Given the description of an element on the screen output the (x, y) to click on. 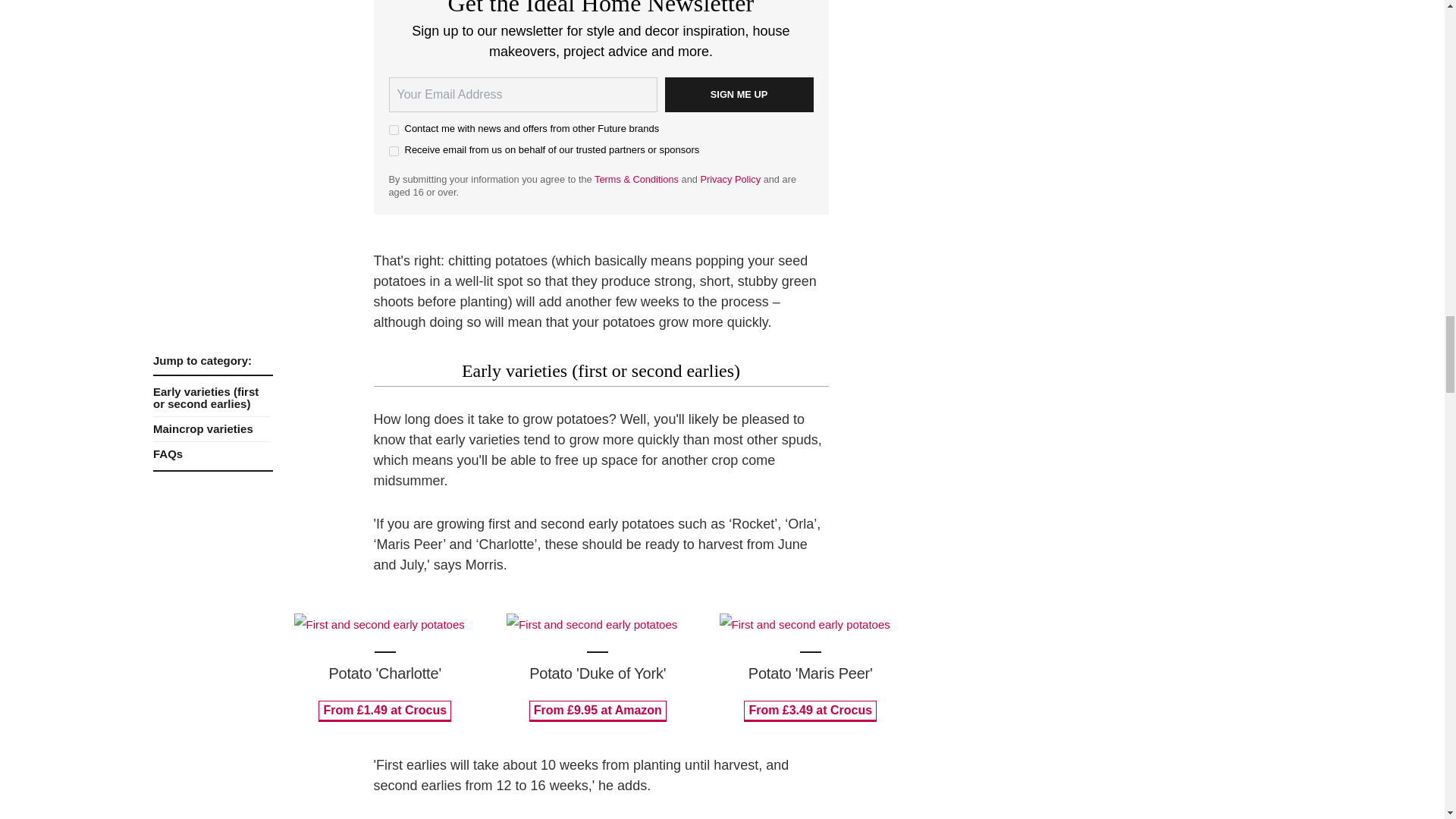
Sign me up (737, 94)
on (392, 151)
on (392, 130)
